Given the description of an element on the screen output the (x, y) to click on. 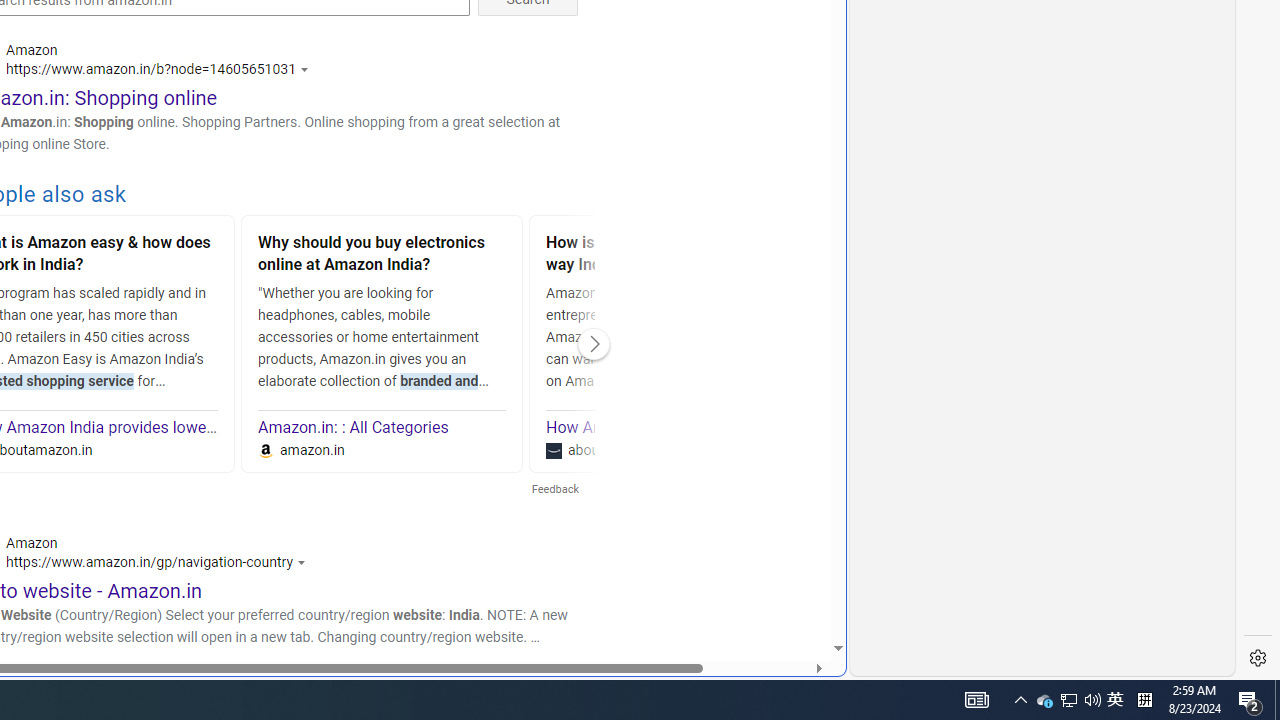
Why should you buy electronics online at Amazon India? (1044, 699)
Search more (381, 255)
AutomationID: mfa_root (1115, 699)
